Given the description of an element on the screen output the (x, y) to click on. 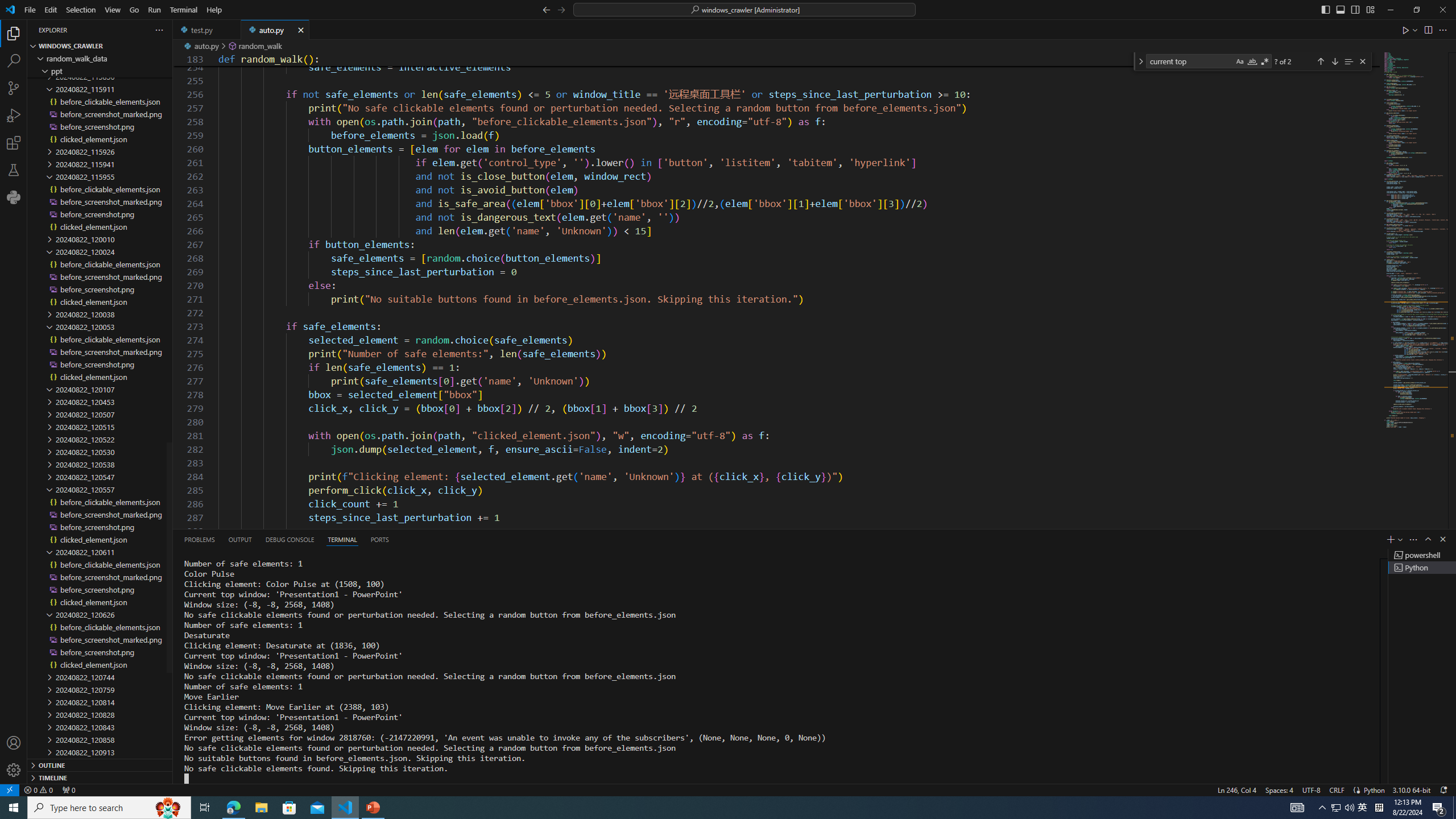
Manage (13, 769)
UTF-8 (1310, 789)
File (30, 9)
Go (134, 9)
Python (13, 197)
Use Regular Expression (Alt+R) (1265, 61)
Launch Profile... (1400, 539)
remote (9, 789)
Toggle Panel (Ctrl+J) (1339, 9)
Match Case (Alt+C) (1239, 61)
Editor actions (1425, 29)
Tab actions (300, 29)
Output (Ctrl+Shift+U) (240, 539)
Edit (50, 9)
Title actions (1347, 9)
